Given the description of an element on the screen output the (x, y) to click on. 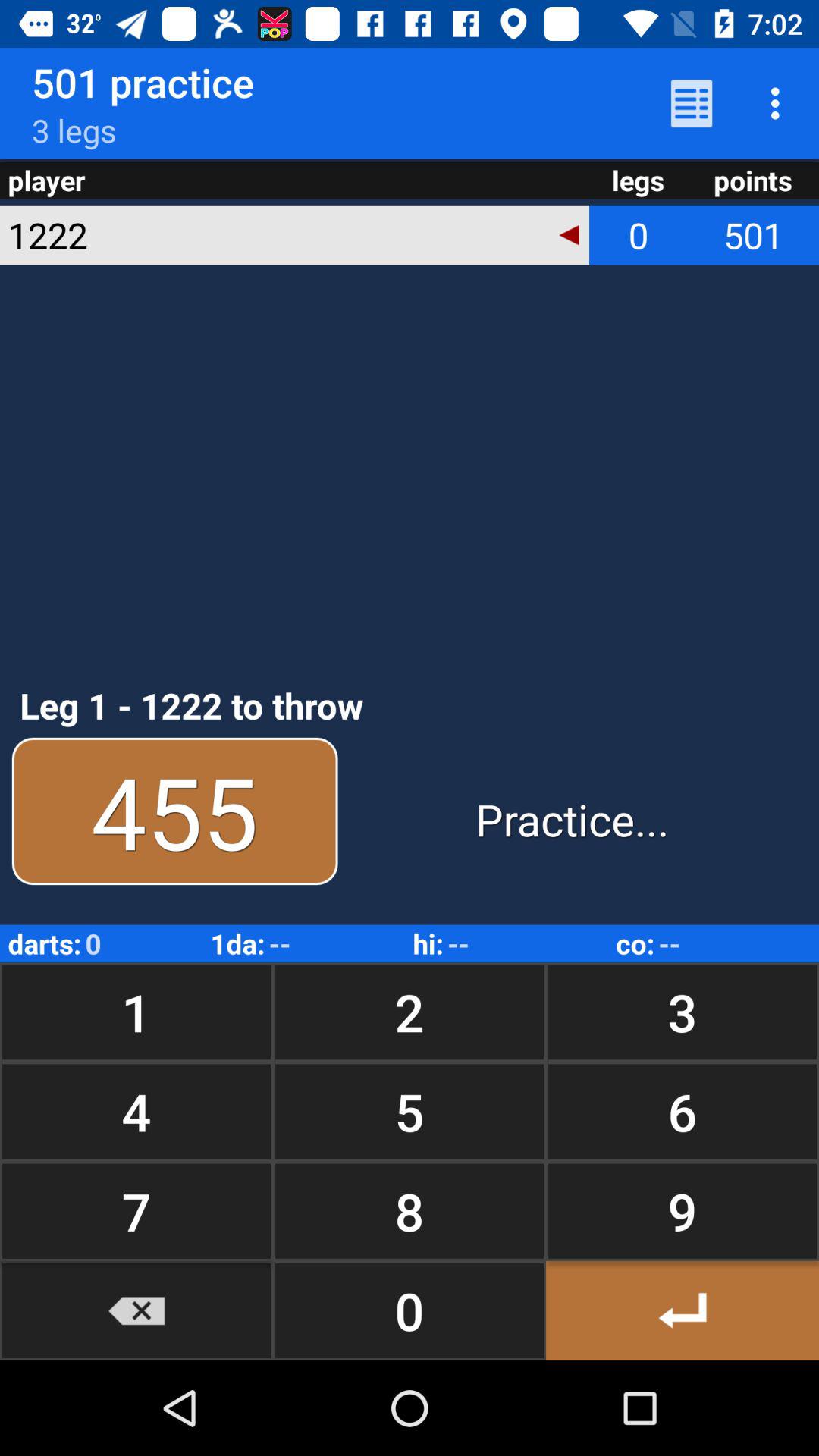
open the icon to the right of the 1 item (409, 1111)
